Given the description of an element on the screen output the (x, y) to click on. 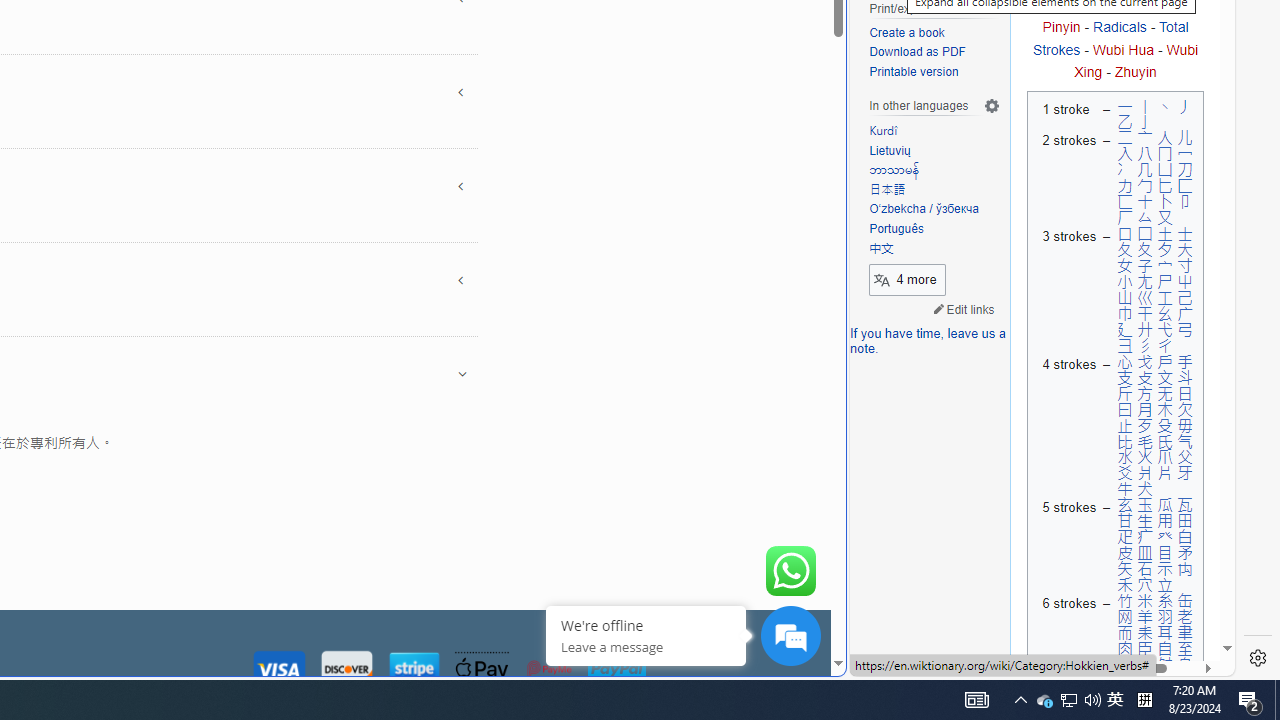
Printable version (913, 71)
